Given the description of an element on the screen output the (x, y) to click on. 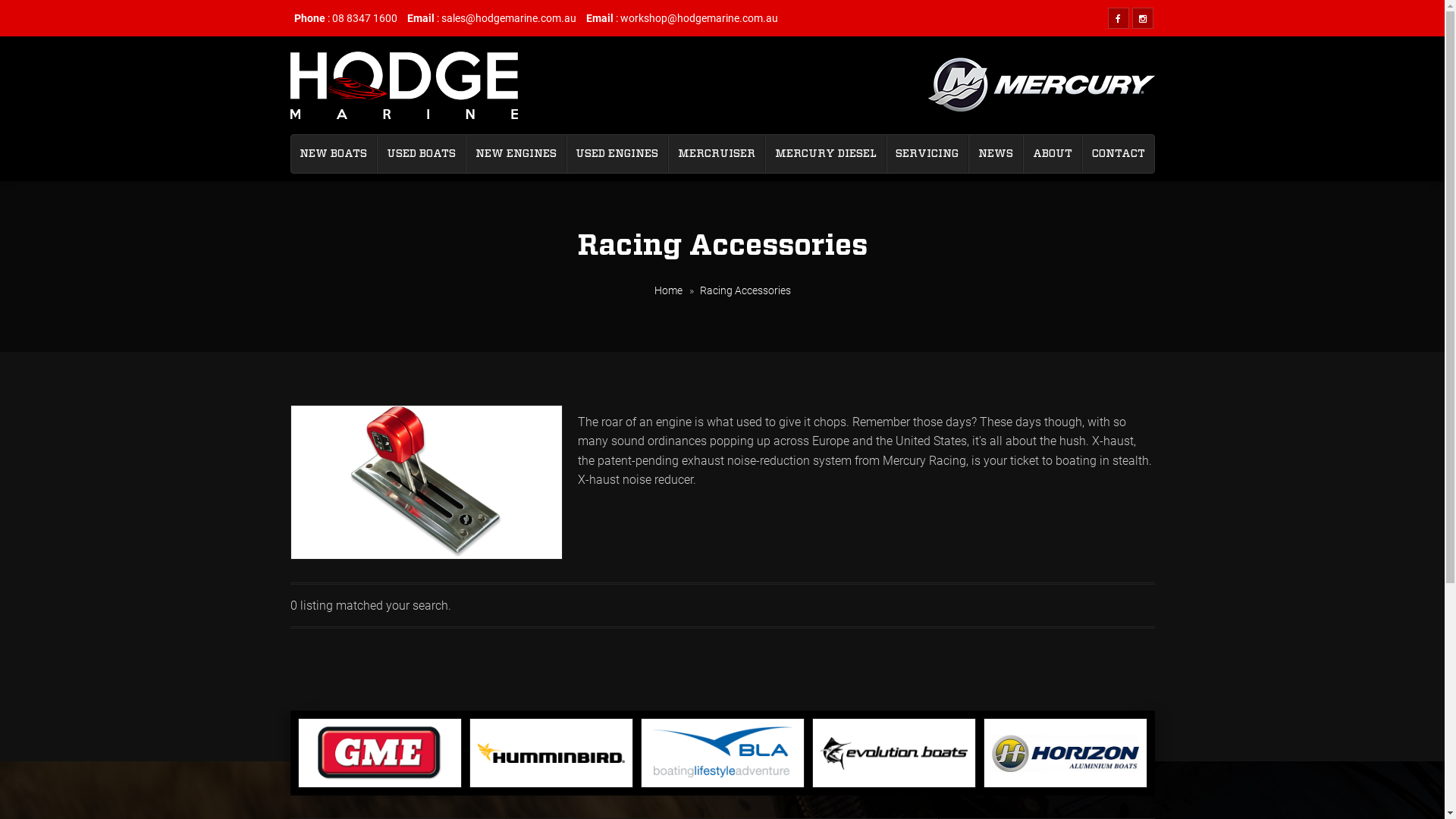
SERVICING Element type: text (927, 153)
CONTACT Element type: text (1118, 153)
NEWS Element type: text (995, 153)
NEW ENGINES Element type: text (515, 153)
ABOUT Element type: text (1052, 153)
workshop@hodgemarine.com.au Element type: text (699, 18)
sales@hodgemarine.com.au Element type: text (508, 18)
USED ENGINES Element type: text (617, 153)
MERCRUISER Element type: text (716, 153)
USED BOATS Element type: text (420, 153)
MERCURY DIESEL Element type: text (825, 153)
08 8347 1600 Element type: text (364, 18)
NEW BOATS Element type: text (333, 153)
Home Element type: text (667, 290)
